Given the description of an element on the screen output the (x, y) to click on. 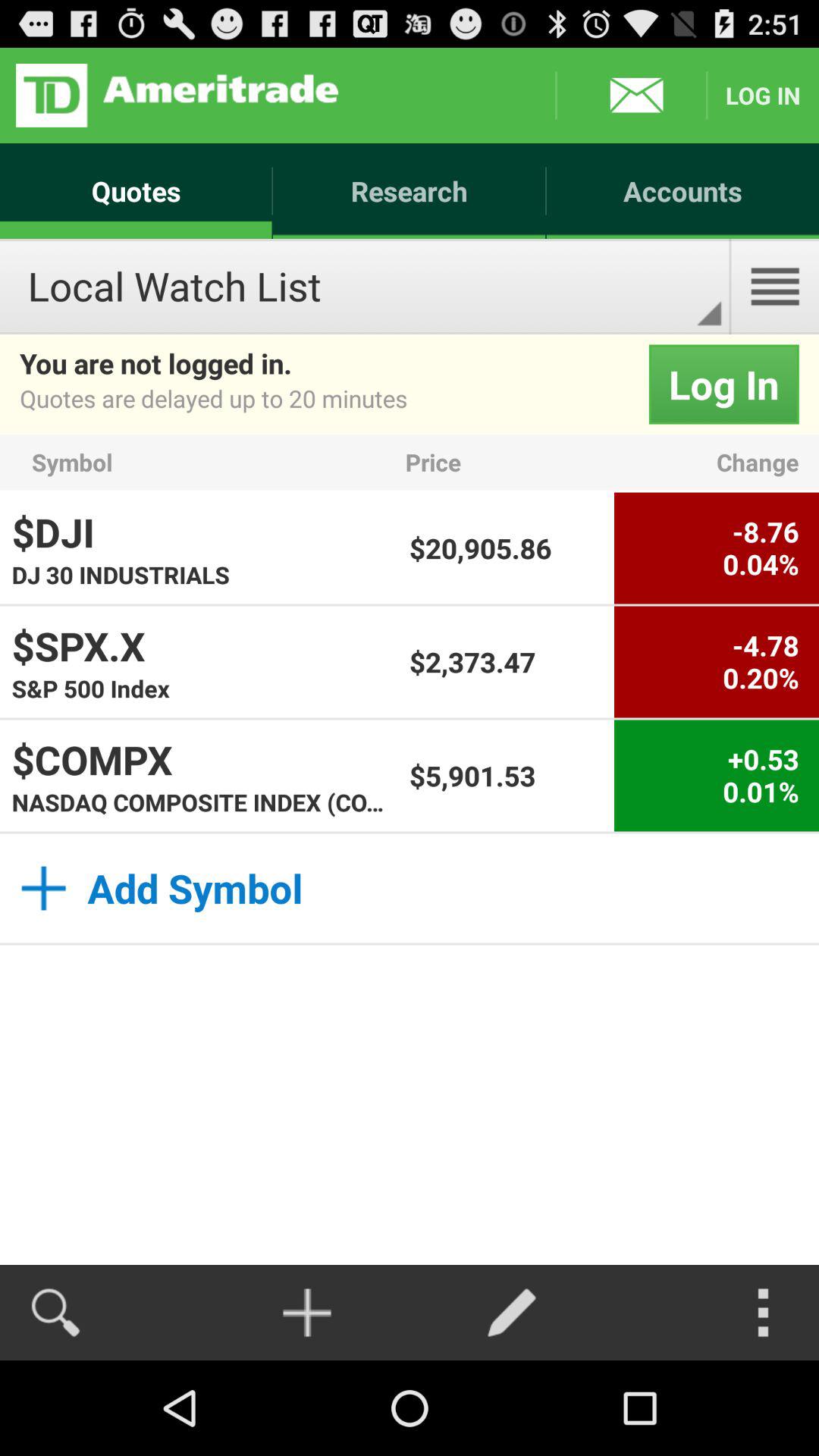
messages box (631, 95)
